Given the description of an element on the screen output the (x, y) to click on. 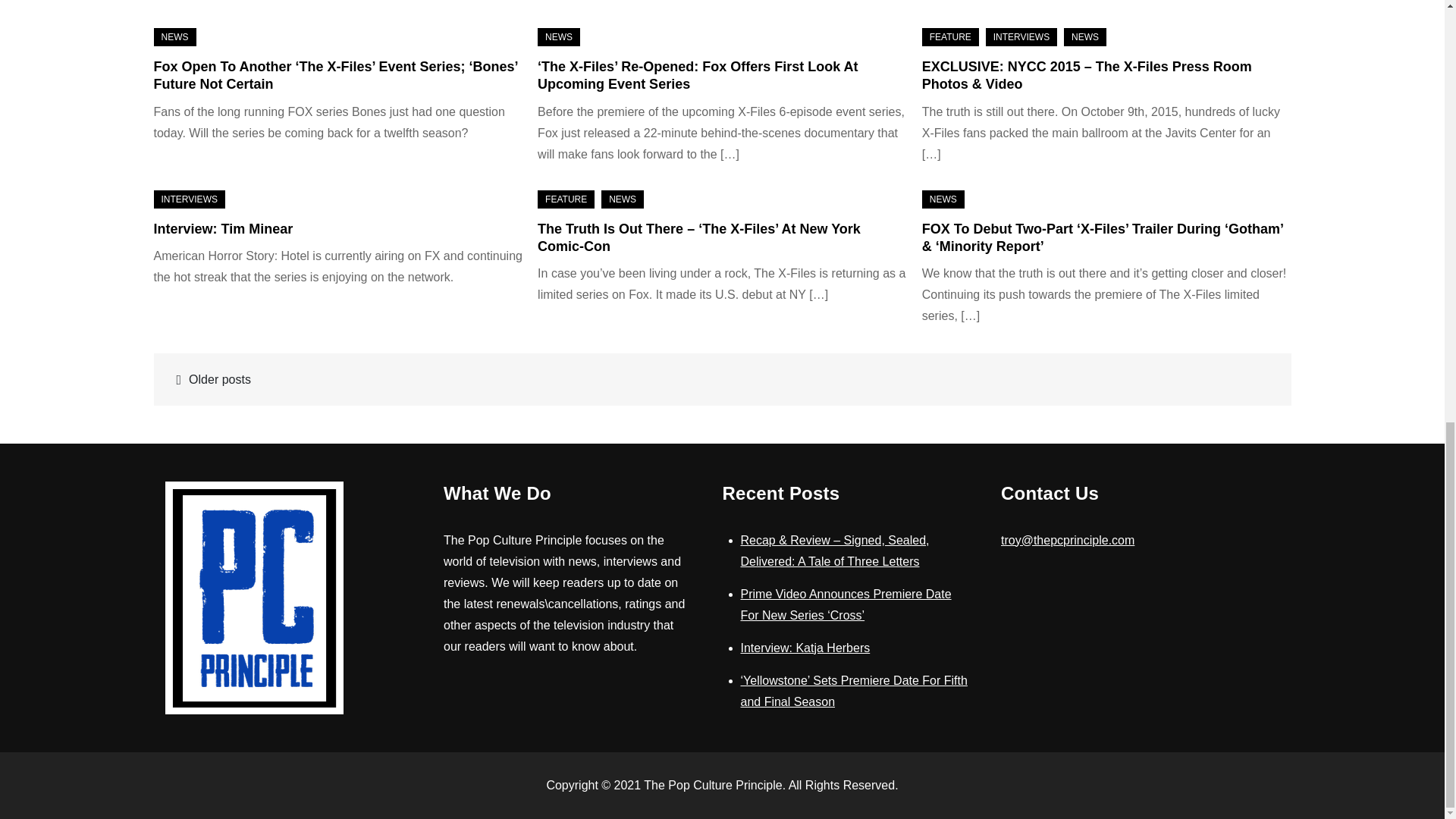
NEWS (558, 36)
FEATURE (949, 36)
INTERVIEWS (1021, 36)
INTERVIEWS (188, 199)
NEWS (1085, 36)
NEWS (173, 36)
